Given the description of an element on the screen output the (x, y) to click on. 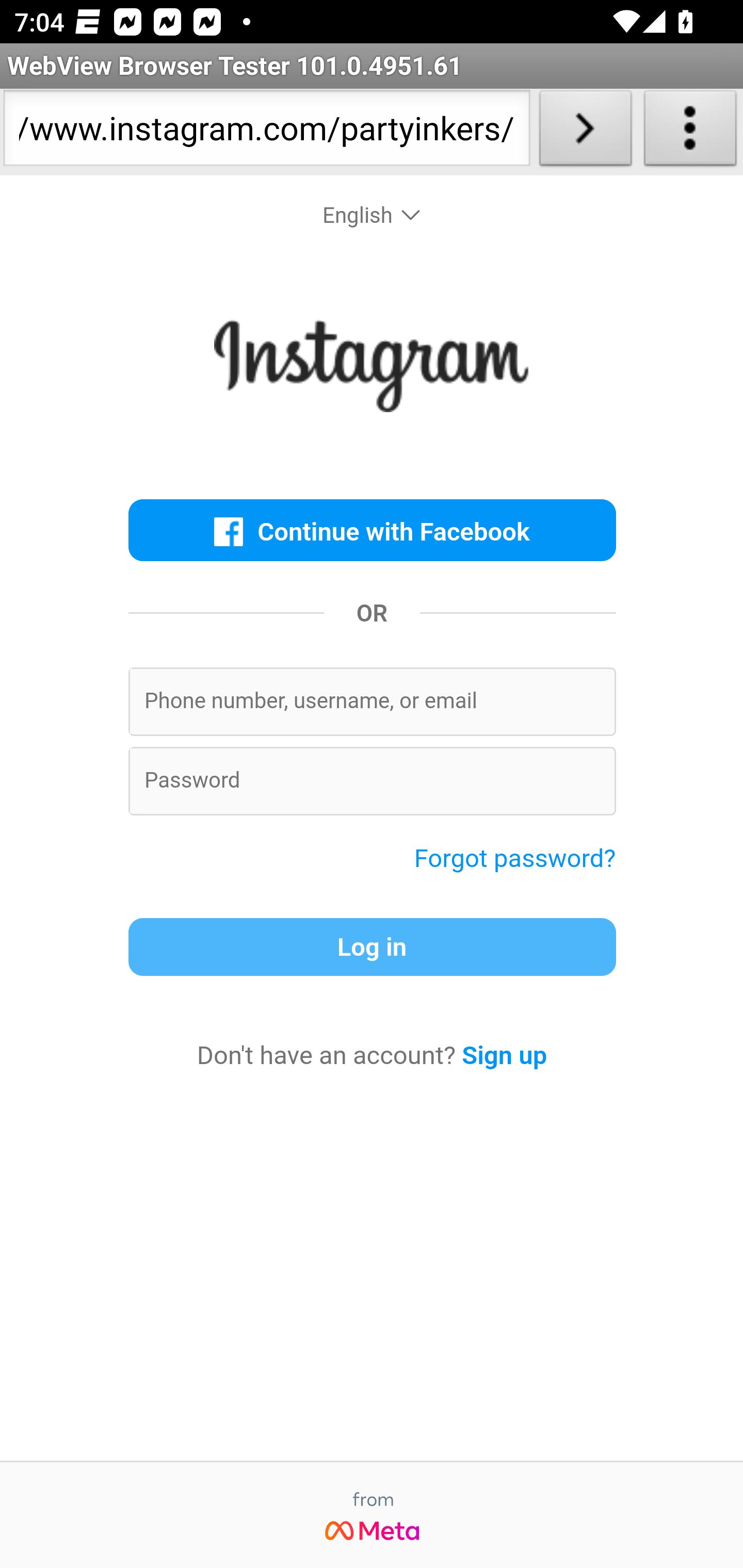
https://www.instagram.com/partyinkers/ (266, 132)
Load URL (585, 132)
About WebView (690, 132)
English (372, 215)
Instagram (372, 369)
Continue with Facebook (371, 529)
Forgot password? (515, 857)
Log in (371, 946)
Sign up (504, 1054)
